Given the description of an element on the screen output the (x, y) to click on. 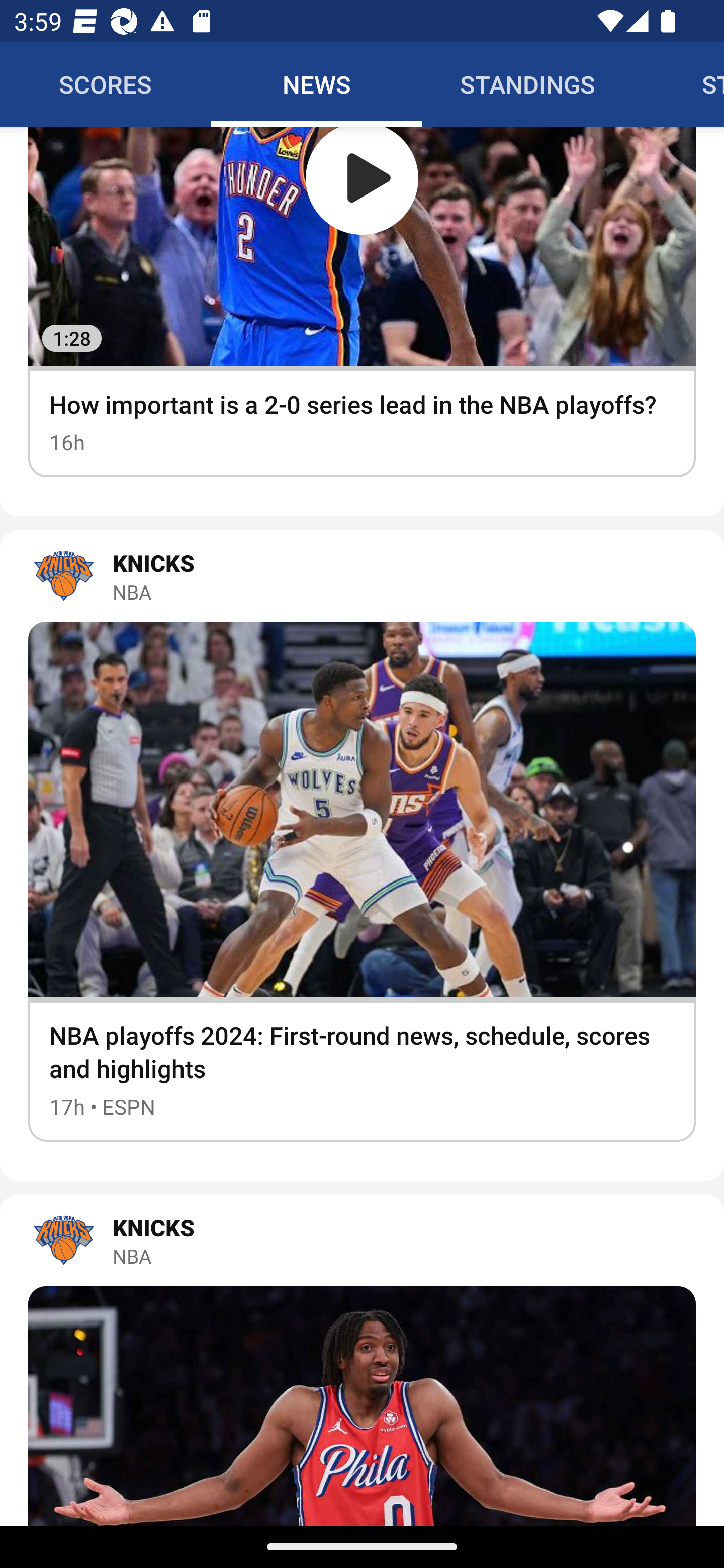
Scores SCORES (105, 84)
Standings STANDINGS (527, 84)
KNICKS NBA (362, 574)
KNICKS NBA (362, 1239)
